Given the description of an element on the screen output the (x, y) to click on. 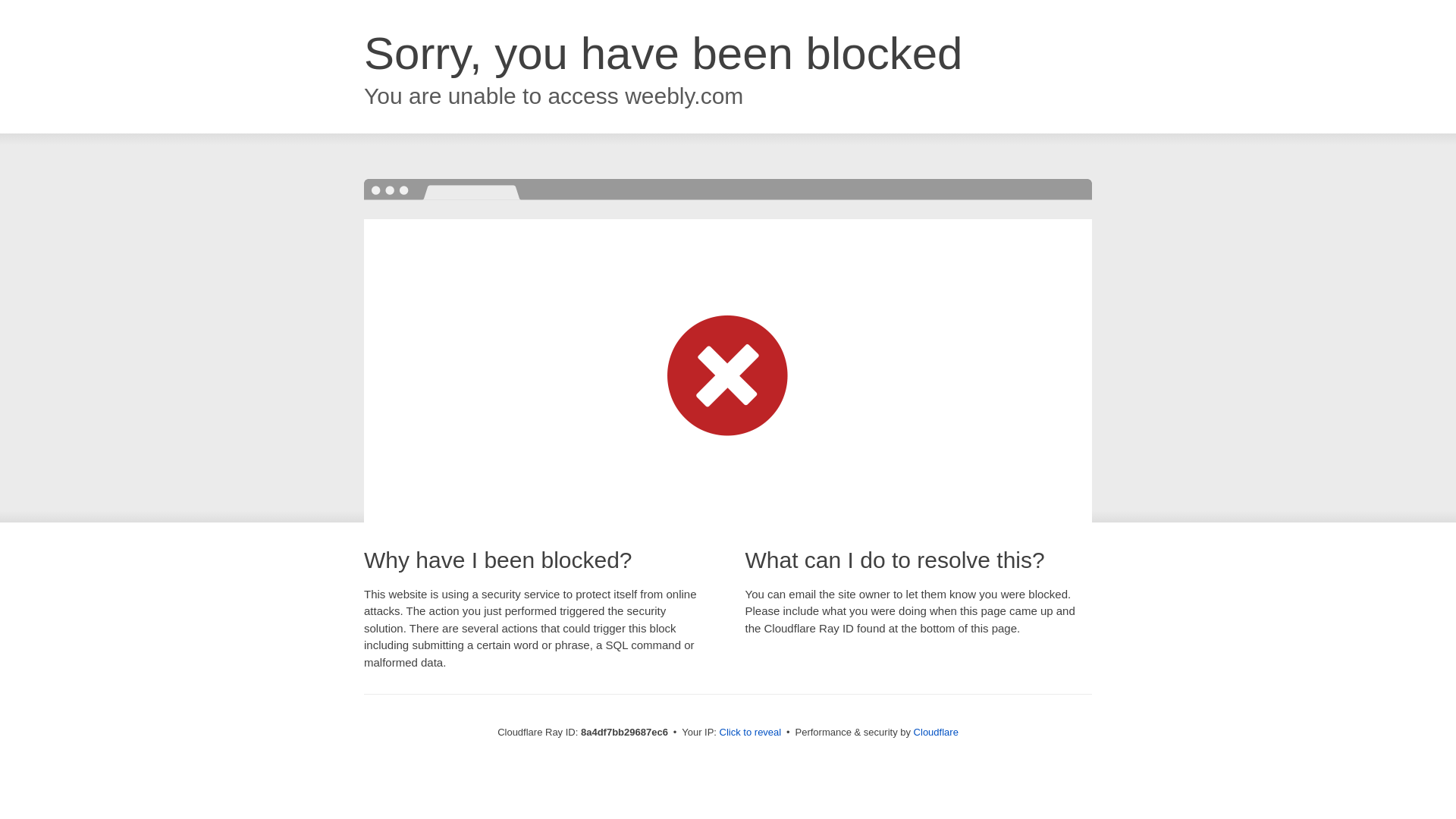
Cloudflare (936, 731)
Click to reveal (750, 732)
